Given the description of an element on the screen output the (x, y) to click on. 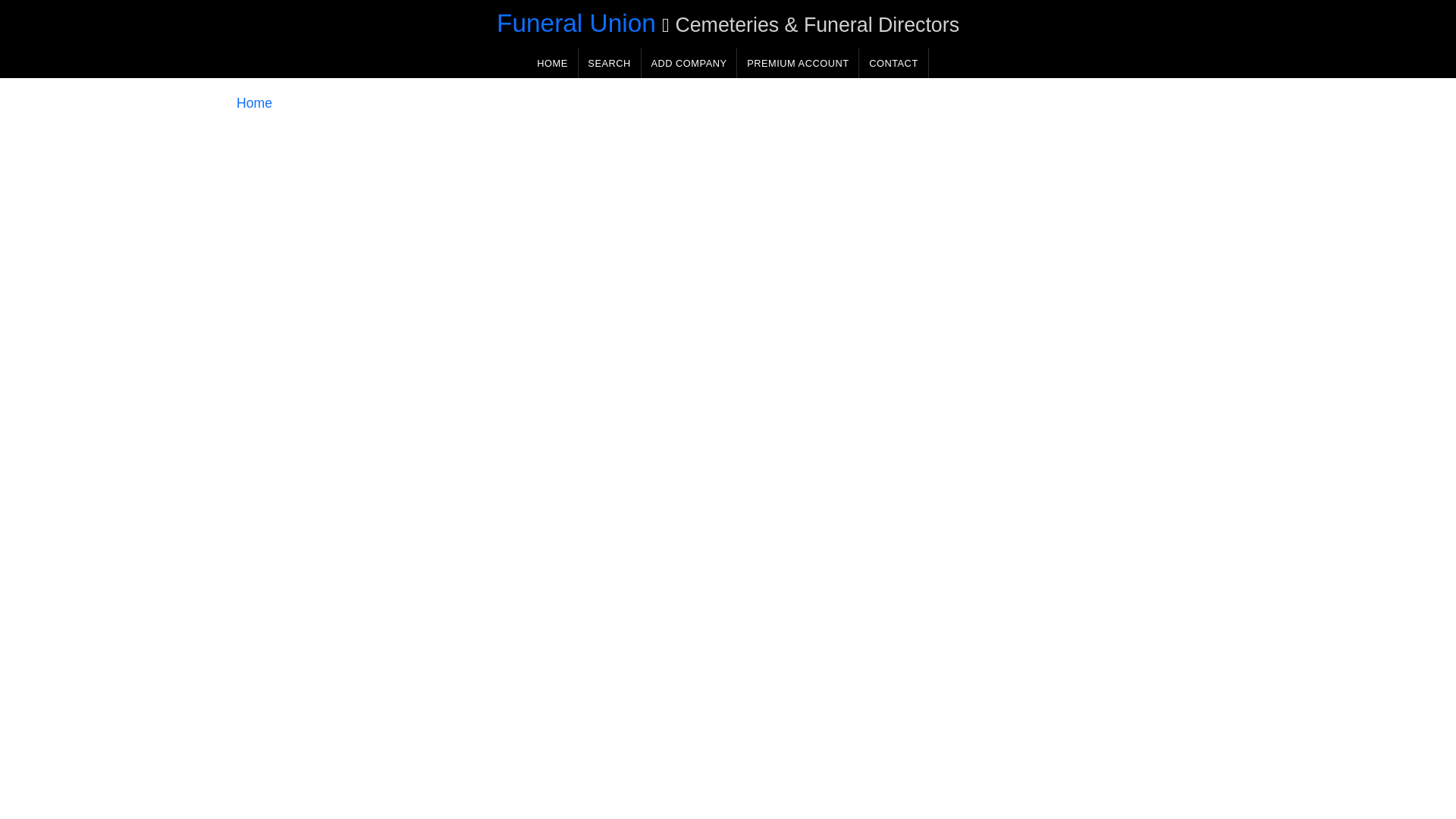
Add a new company (689, 62)
Search in this webseite. (609, 62)
SEARCH (609, 62)
PREMIUM ACCOUNT (797, 62)
Premium account (797, 62)
Funeral Union (576, 22)
HOME (551, 62)
ADD COMPANY (689, 62)
Home (253, 102)
